Given the description of an element on the screen output the (x, y) to click on. 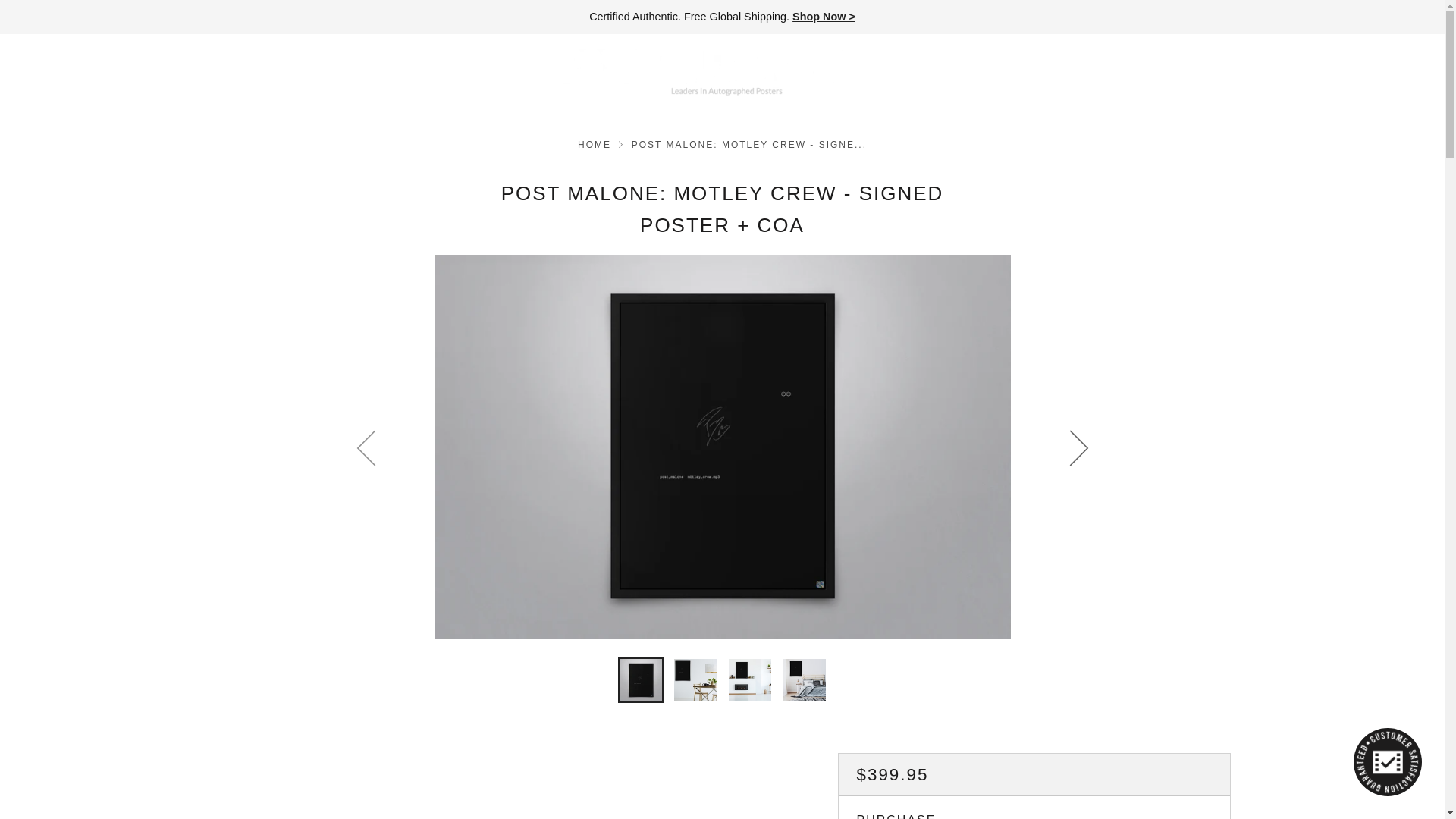
New Releases (824, 16)
Home (594, 144)
SHOP BY CATEGORY (93, 70)
